Given the description of an element on the screen output the (x, y) to click on. 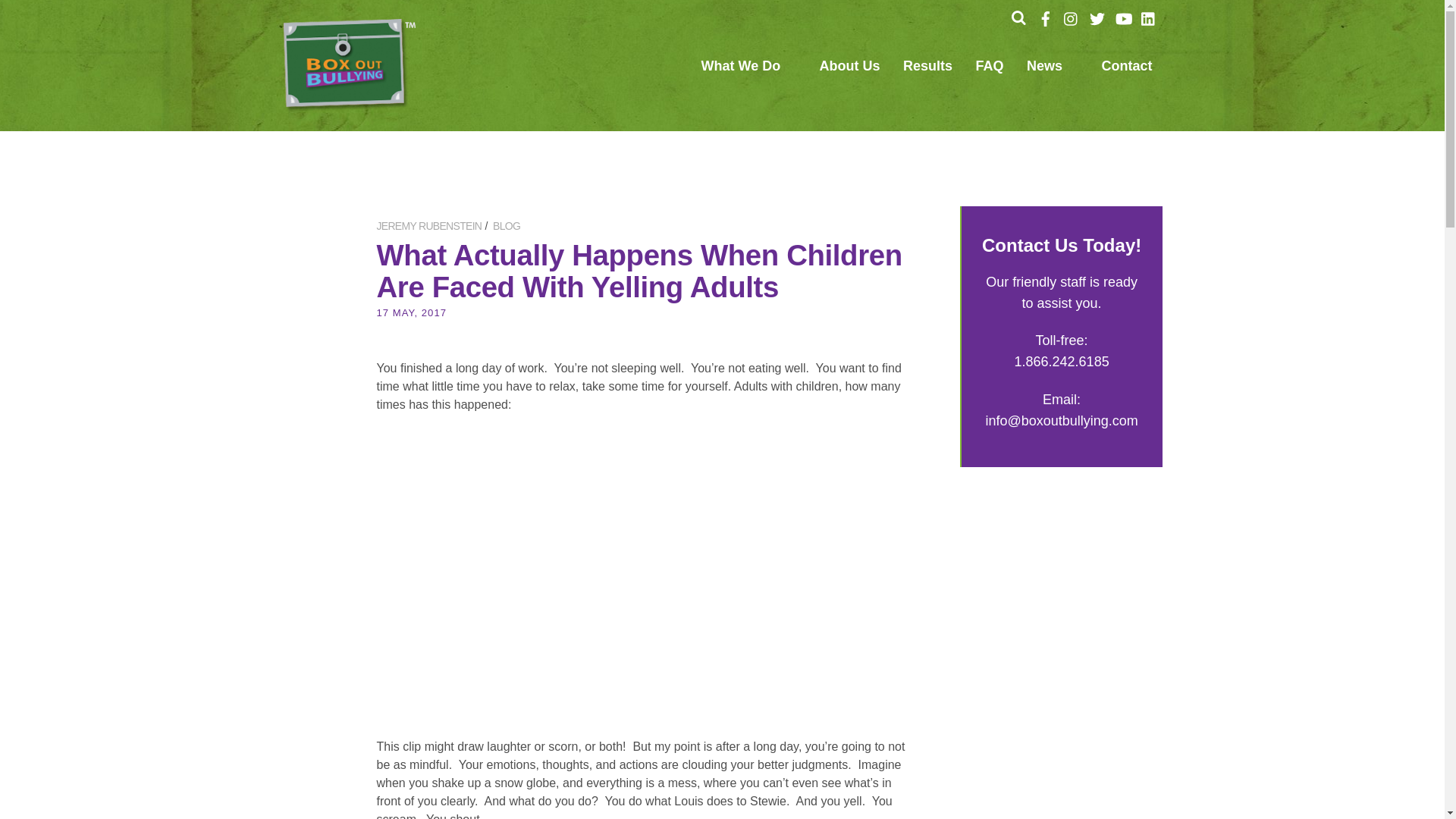
BLOG (506, 225)
About Us (850, 71)
What We Do (748, 71)
Contact (1125, 71)
FAQ (989, 71)
logo-tagline (348, 65)
Box Out Bullying (348, 105)
Results (927, 71)
